Given the description of an element on the screen output the (x, y) to click on. 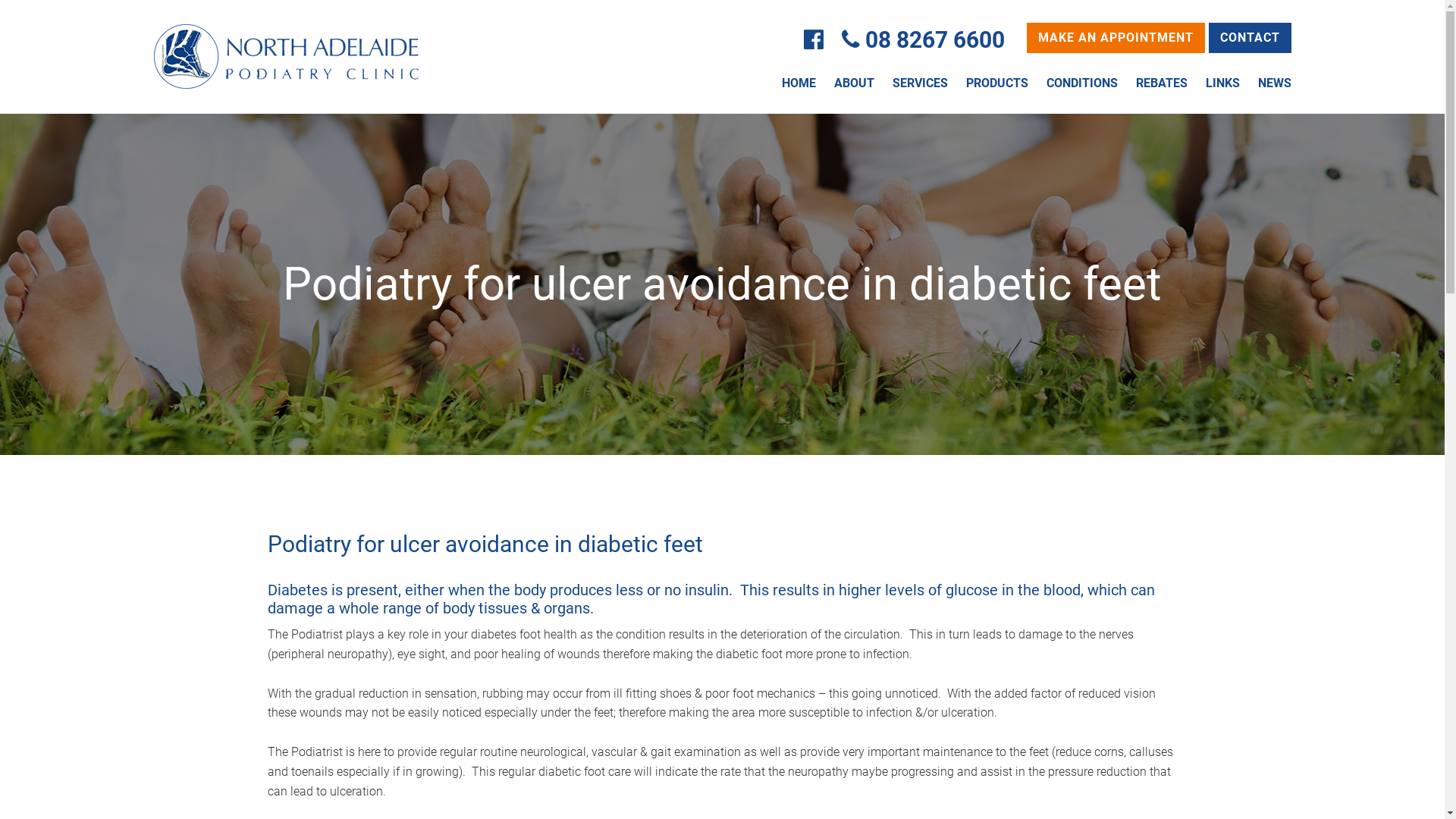
PRODUCTS Element type: text (997, 82)
SERVICES Element type: text (919, 82)
LINKS Element type: text (1222, 82)
HOME Element type: text (798, 82)
NEWS Element type: text (1273, 82)
REBATES Element type: text (1161, 82)
08 8267 6600 Element type: text (934, 39)
MAKE AN APPOINTMENT Element type: text (1115, 37)
ABOUT Element type: text (854, 82)
CONDITIONS Element type: text (1081, 82)
CONTACT Element type: text (1249, 37)
